Given the description of an element on the screen output the (x, y) to click on. 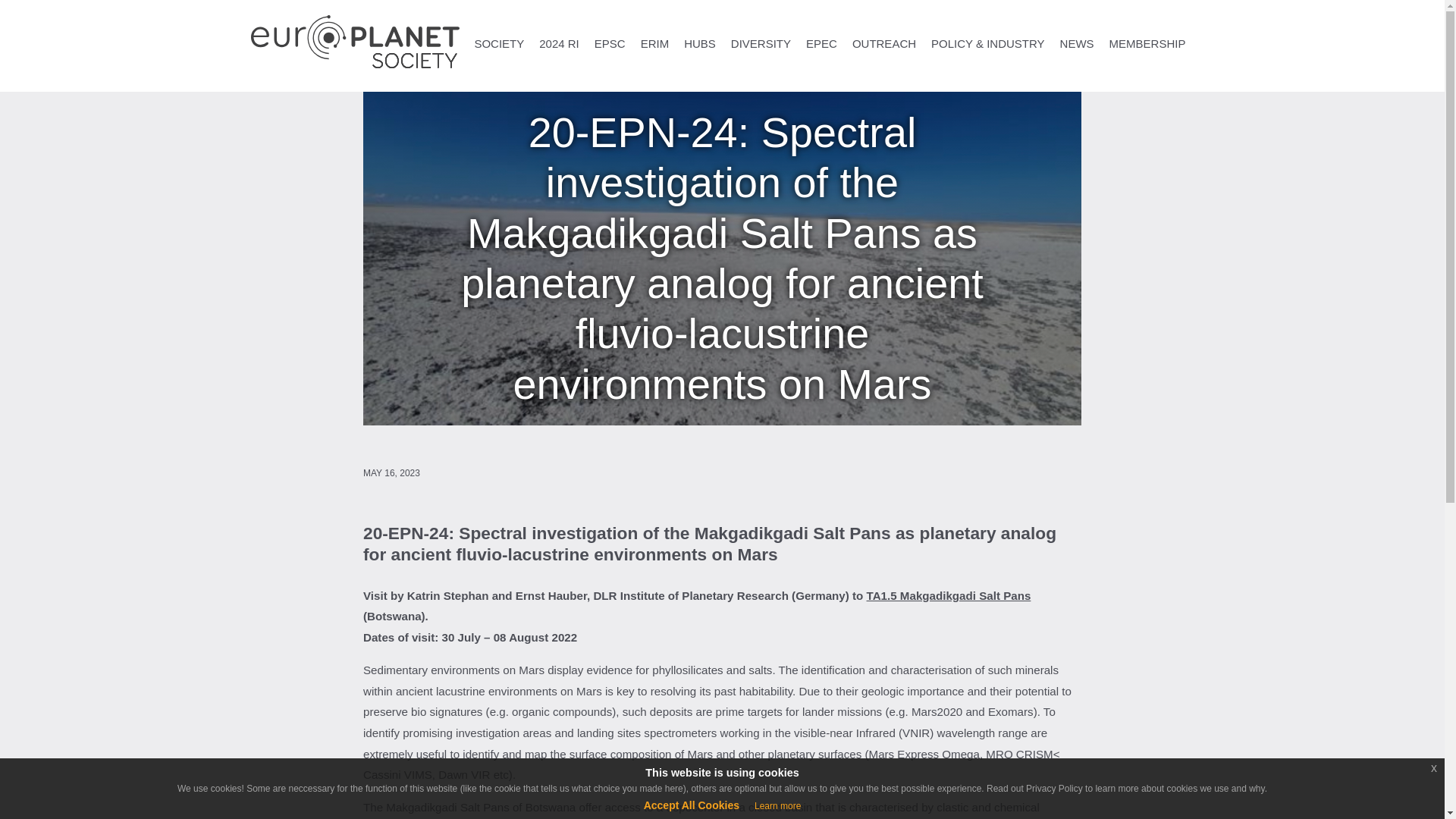
SOCIETY (498, 43)
2024 RI (558, 43)
